Given the description of an element on the screen output the (x, y) to click on. 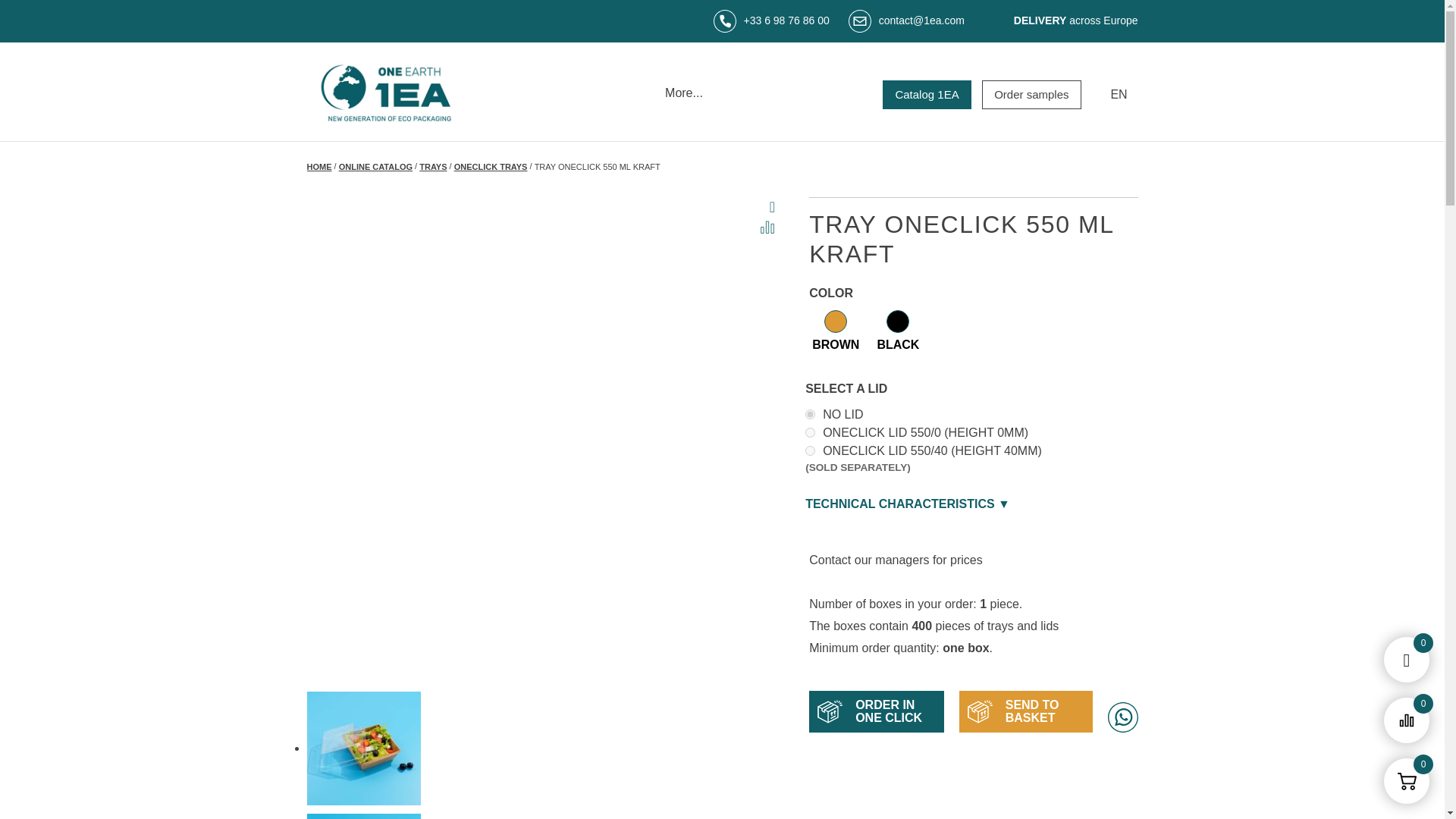
6wi80 (810, 432)
More... (683, 92)
l0yff (810, 450)
EN (1118, 94)
Catalog 1EA (926, 94)
g5ogq (810, 414)
Order samples (1030, 94)
